Given the description of an element on the screen output the (x, y) to click on. 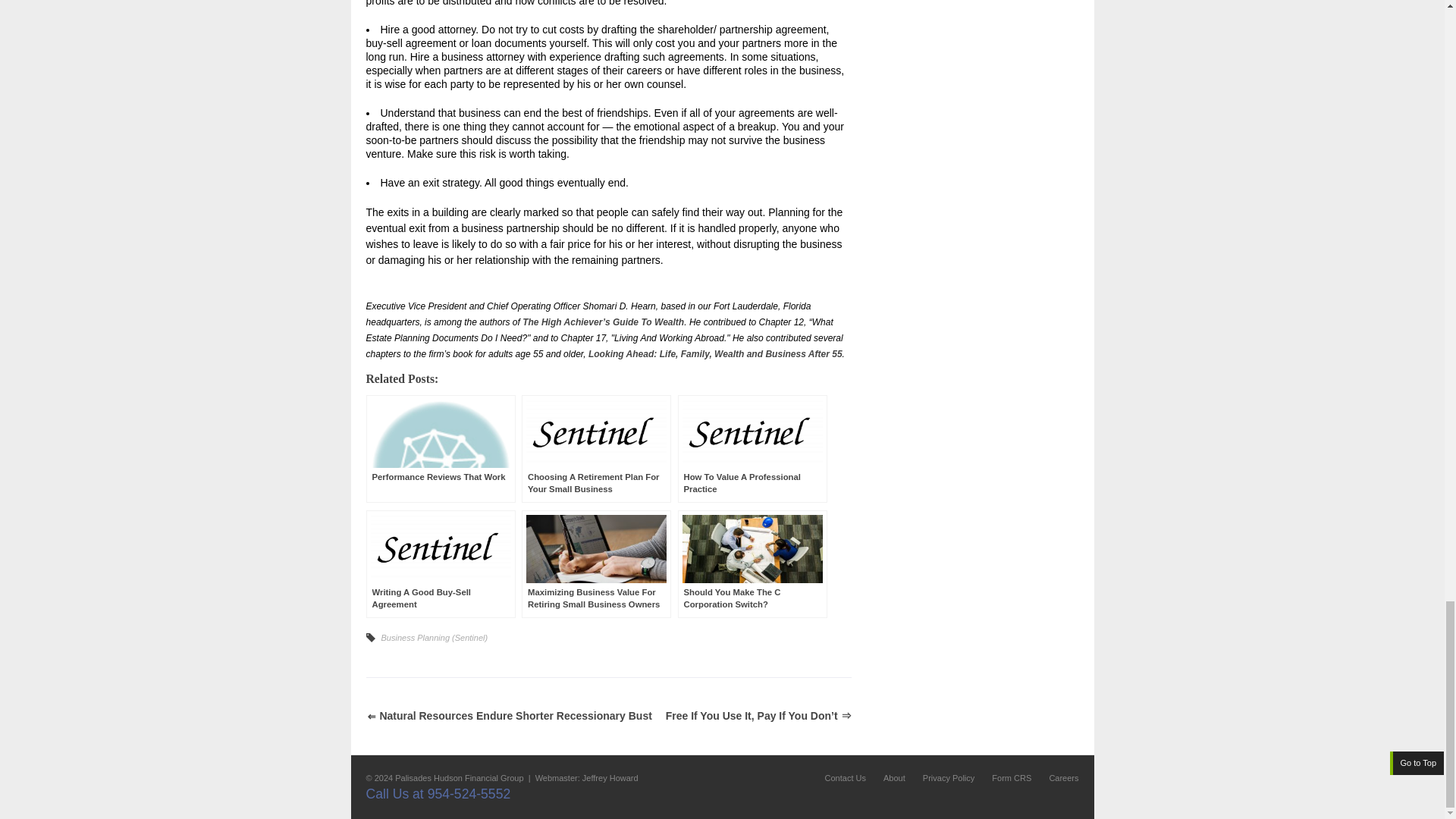
How To Value A Professional Practice (752, 448)
How To Value A Professional Practice (752, 448)
Writing A Good Buy-Sell Agreement (440, 564)
Performance Reviews That Work (440, 448)
Choosing A Retirement Plan For Your Small Business (596, 448)
Writing A Good Buy-Sell Agreement (440, 564)
Maximizing Business Value For Retiring Small Business Owners (596, 564)
Looking Ahead: Life, Family, Wealth and Business After 55 (715, 353)
Performance Reviews That Work (440, 448)
Choosing A Retirement Plan For Your Small Business (596, 448)
Should You Make The C Corporation Switch? (752, 564)
